Given the description of an element on the screen output the (x, y) to click on. 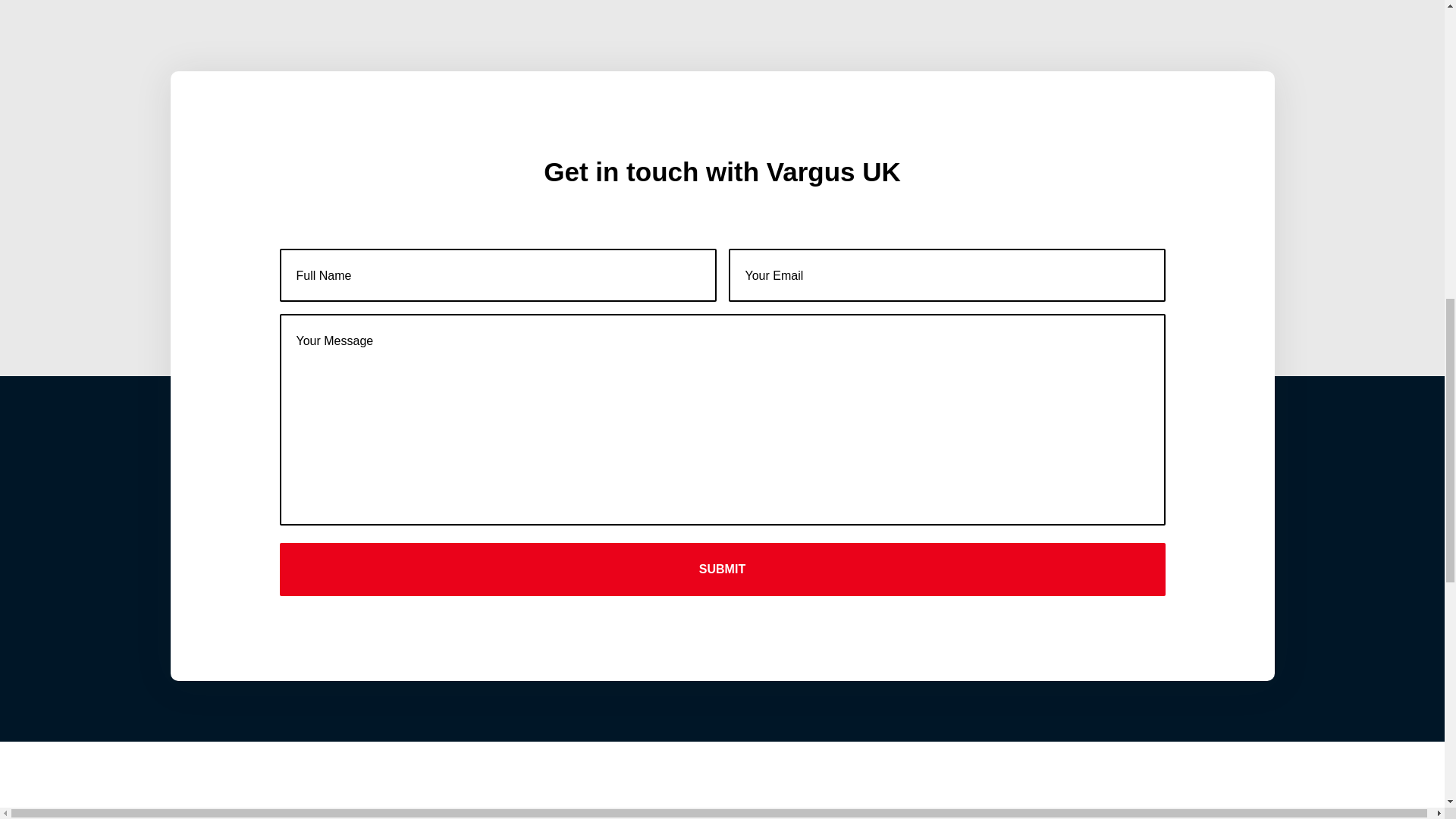
SUBMIT (721, 569)
